Given the description of an element on the screen output the (x, y) to click on. 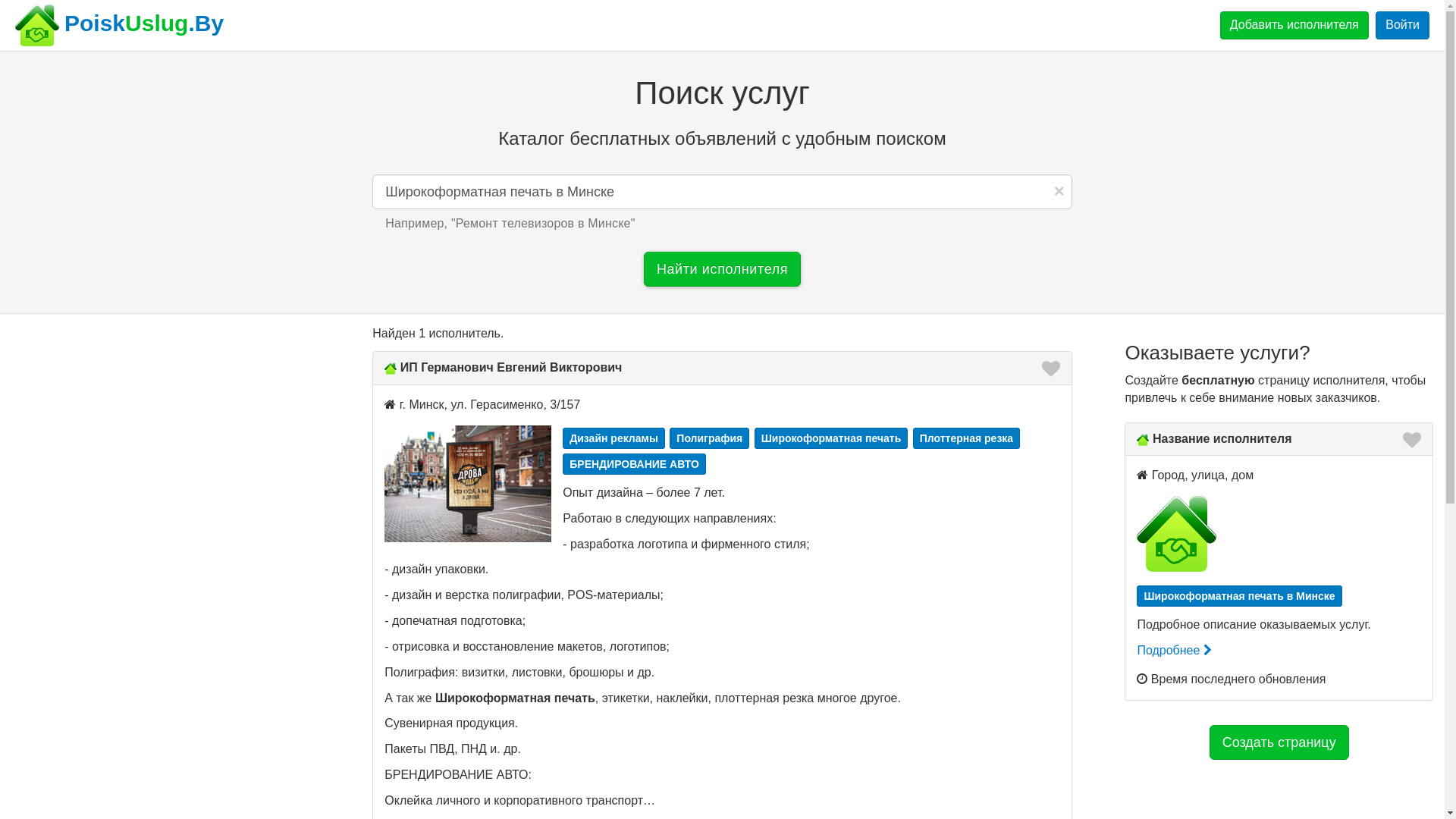
PoiskUslug.By Element type: text (37, 25)
Advertisement Element type: hover (165, 431)
